Given the description of an element on the screen output the (x, y) to click on. 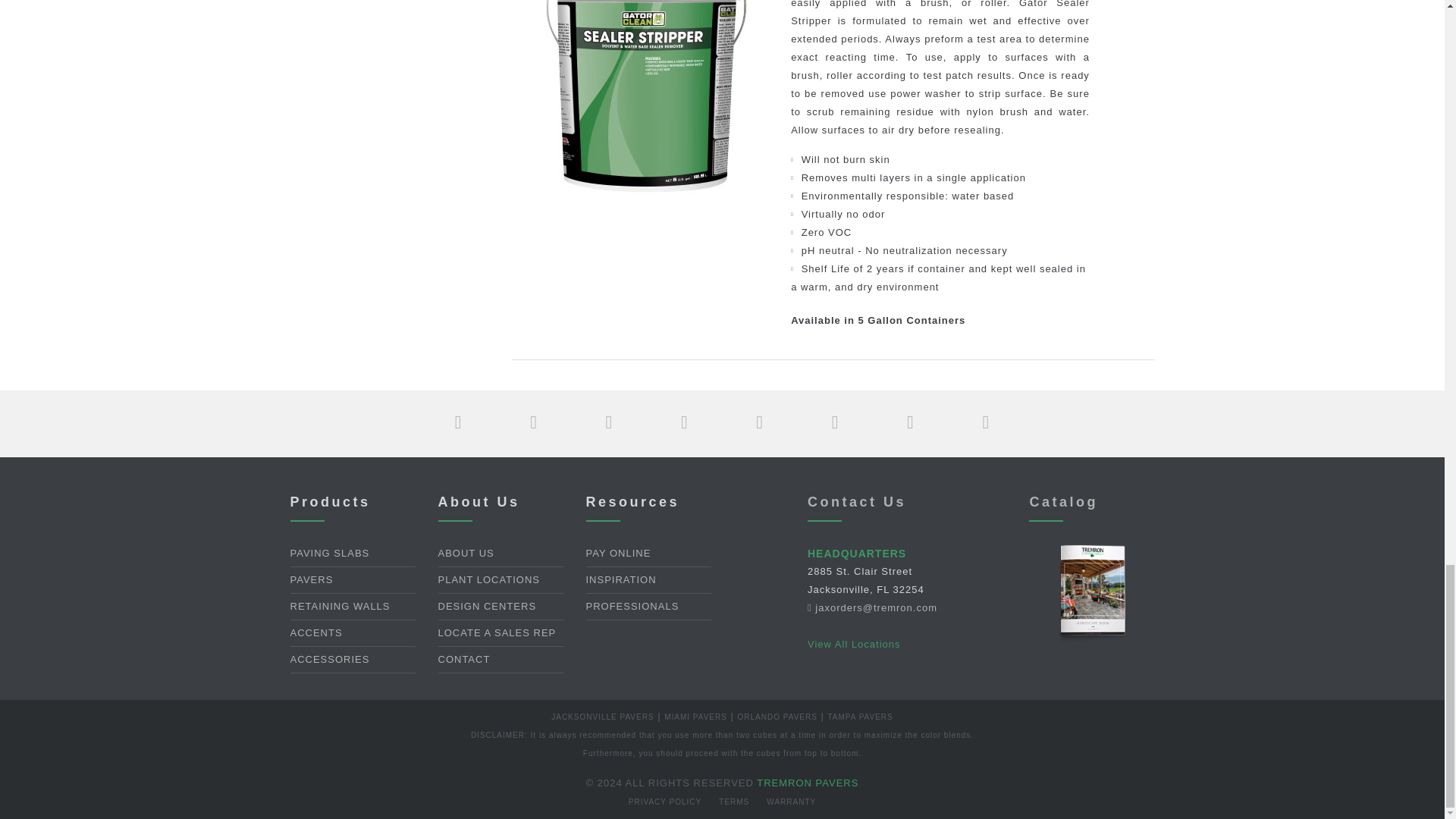
Harscape Book Vol 14 (1091, 592)
Sealer Stripper (646, 100)
